Given the description of an element on the screen output the (x, y) to click on. 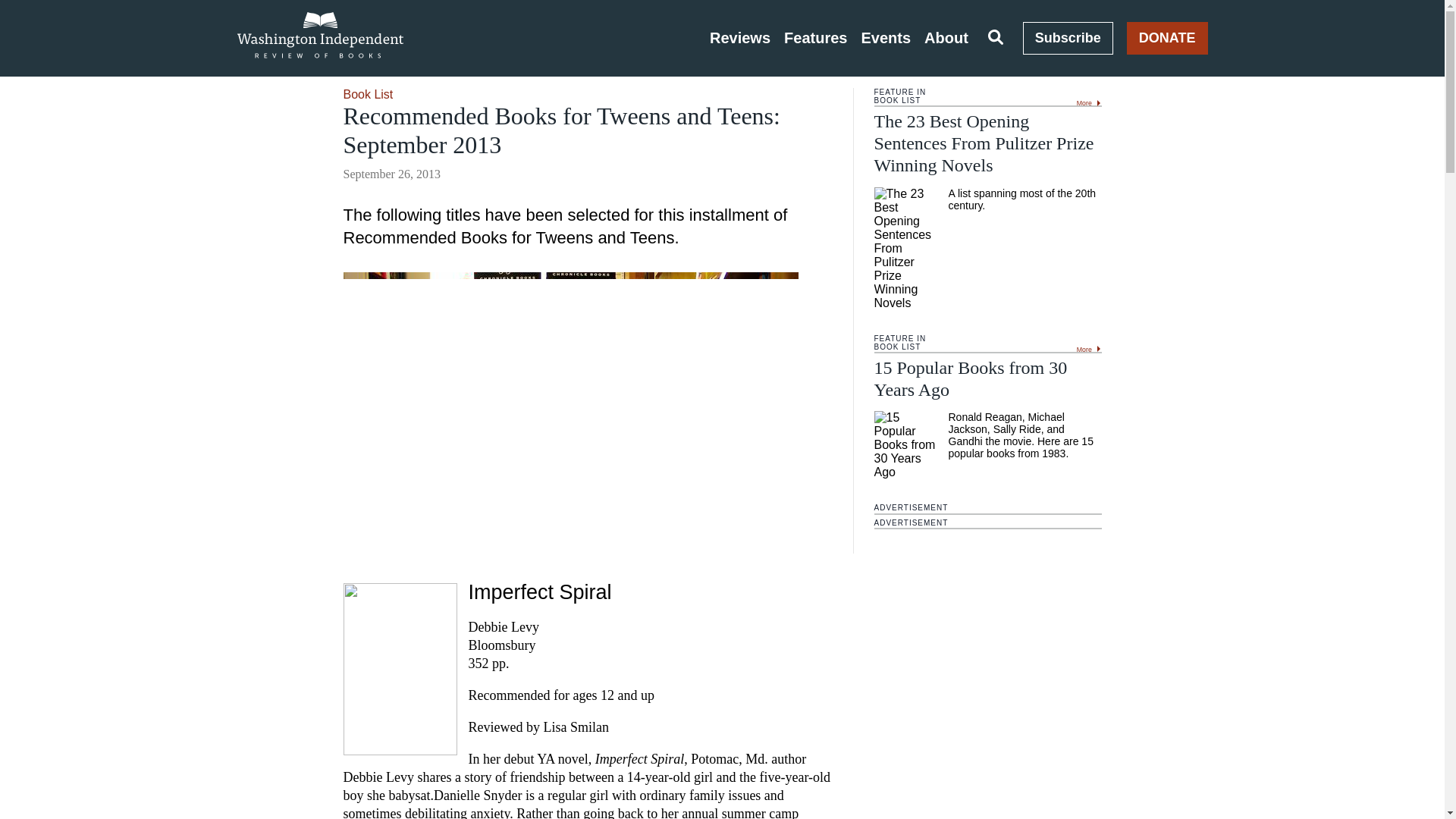
Subscribe (1068, 38)
15 Popular Books from 30 Years Ago (970, 378)
Features (815, 37)
Reviews (740, 37)
Events (885, 37)
More (1089, 347)
DONATE (1167, 38)
Book List (367, 93)
About (946, 37)
